Given the description of an element on the screen output the (x, y) to click on. 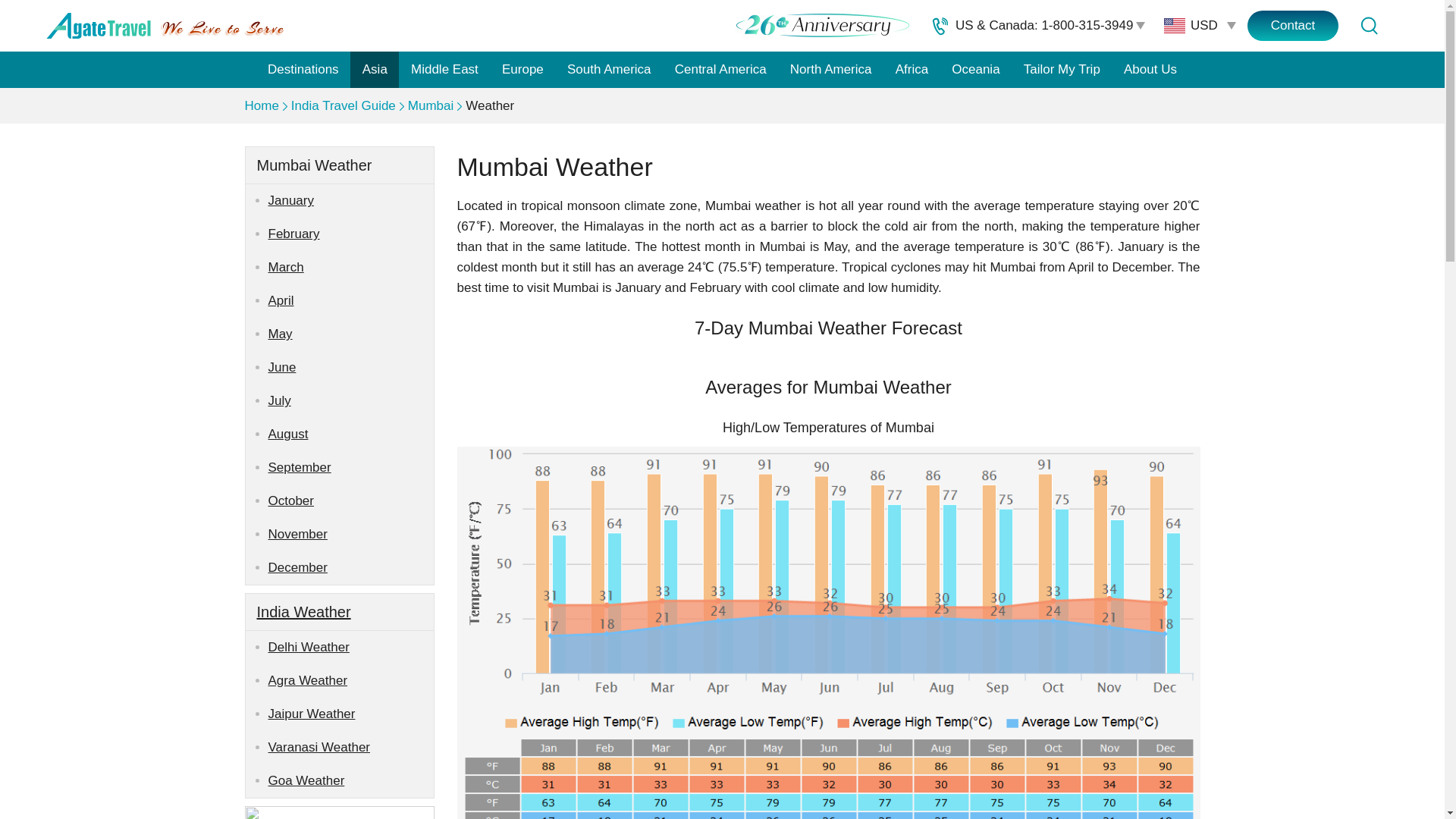
January (350, 200)
May (350, 334)
Jaipur Weather (350, 714)
Mumbai (429, 105)
September (350, 467)
Asia (374, 69)
June (350, 367)
February (350, 233)
July (350, 400)
Home (261, 105)
North America (830, 69)
Central America (719, 69)
Varanasi Weather (350, 747)
About Us (1150, 69)
Goa Weather (350, 780)
